Given the description of an element on the screen output the (x, y) to click on. 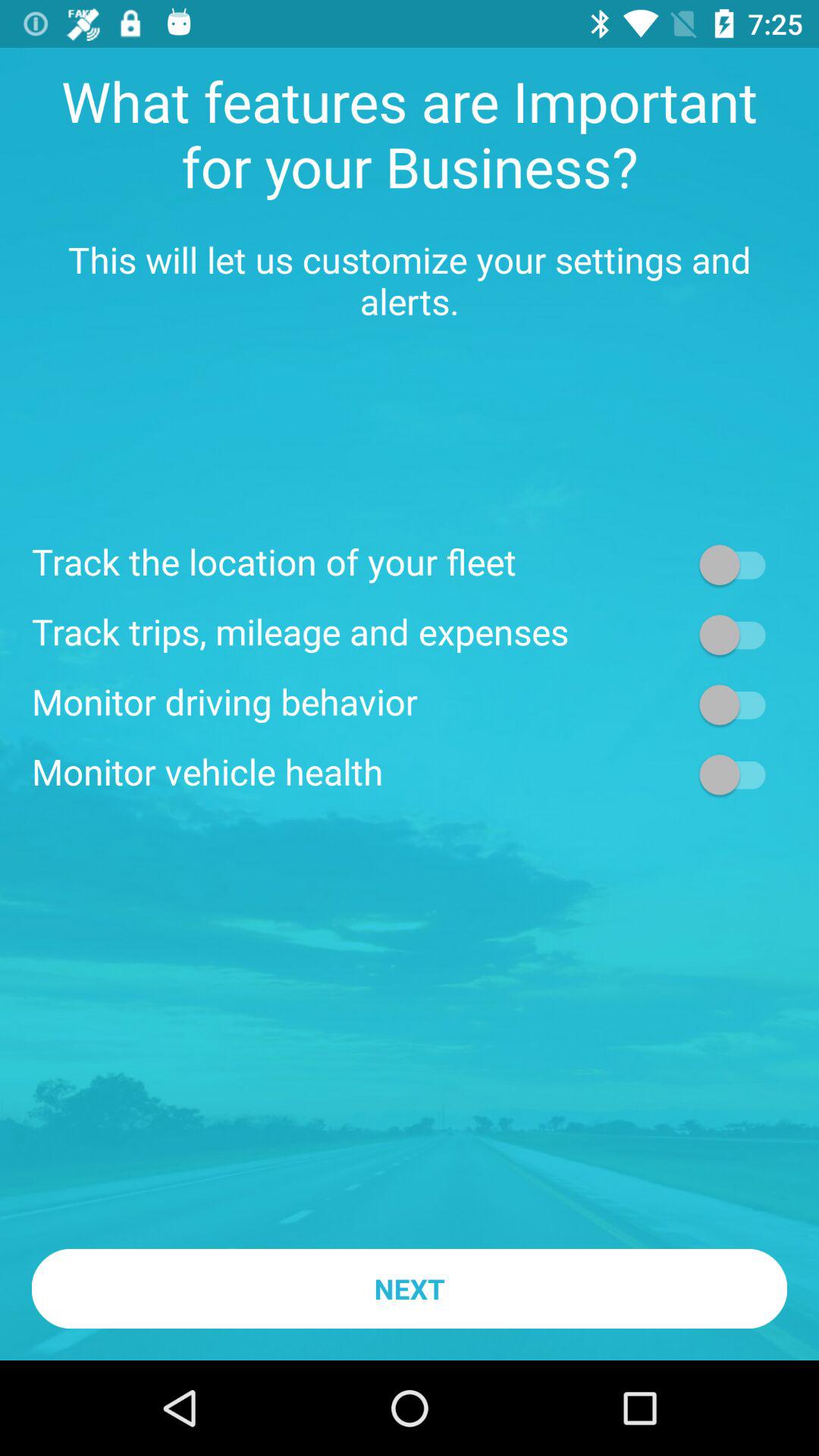
open and close option (739, 564)
